Given the description of an element on the screen output the (x, y) to click on. 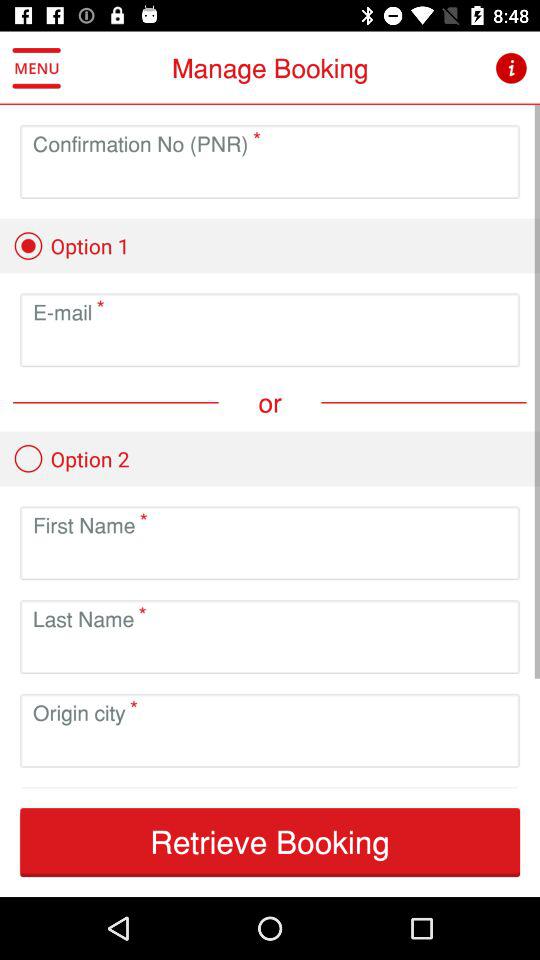
put email address (270, 345)
